Given the description of an element on the screen output the (x, y) to click on. 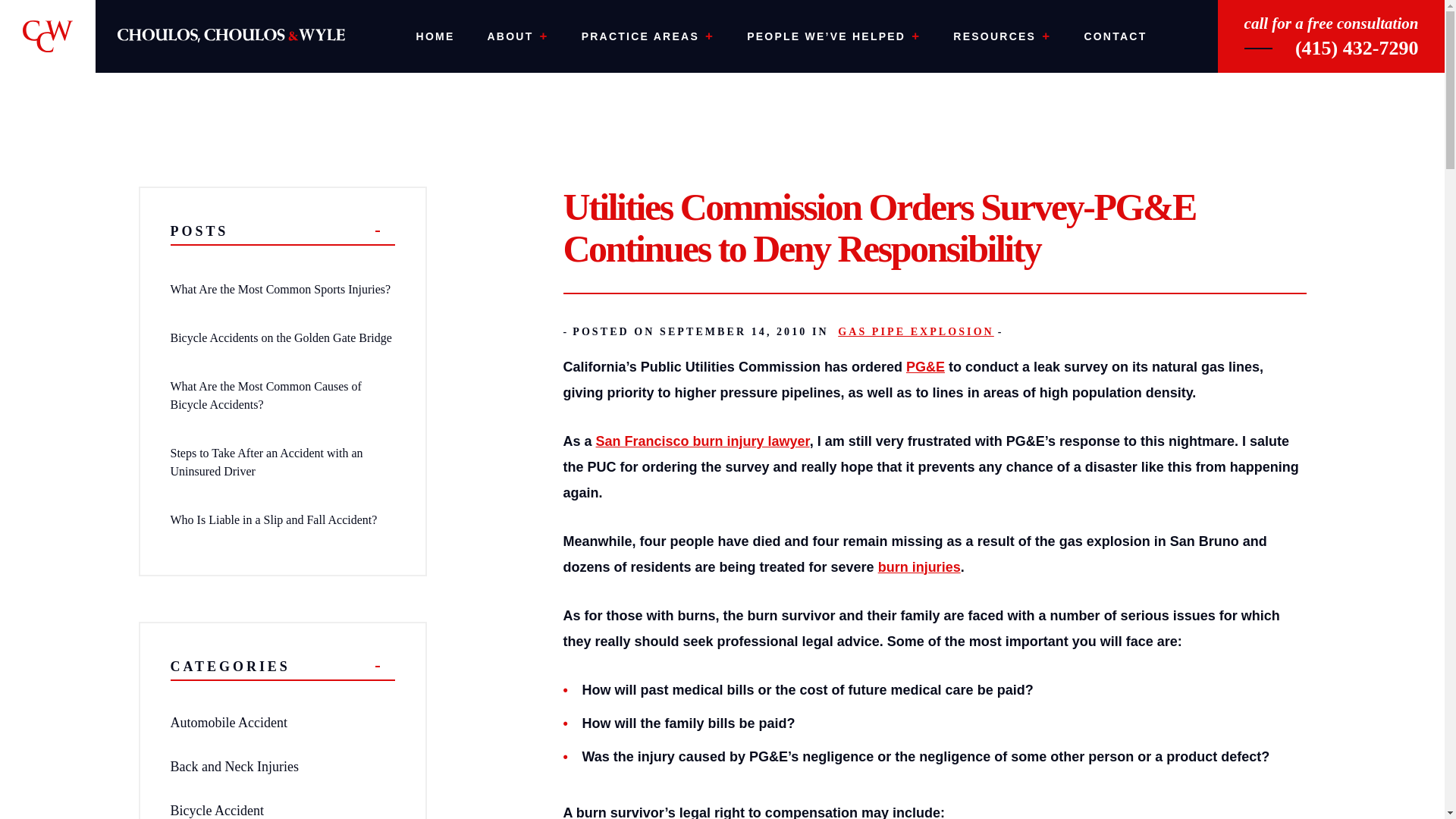
Bicycle Accidents on the Golden Gate Bridge (280, 337)
What Are the Most Common Sports Injuries? (280, 288)
GAS PIPE EXPLOSION (913, 331)
San Francisco burn injury lawyer (702, 441)
PRACTICE AREAS (647, 36)
CONTACT (1115, 35)
Automobile Accident (228, 722)
What Are the Most Common Causes of Bicycle Accidents? (265, 395)
HOME (435, 35)
Who Is Liable in a Slip and Fall Accident? (273, 519)
